Given the description of an element on the screen output the (x, y) to click on. 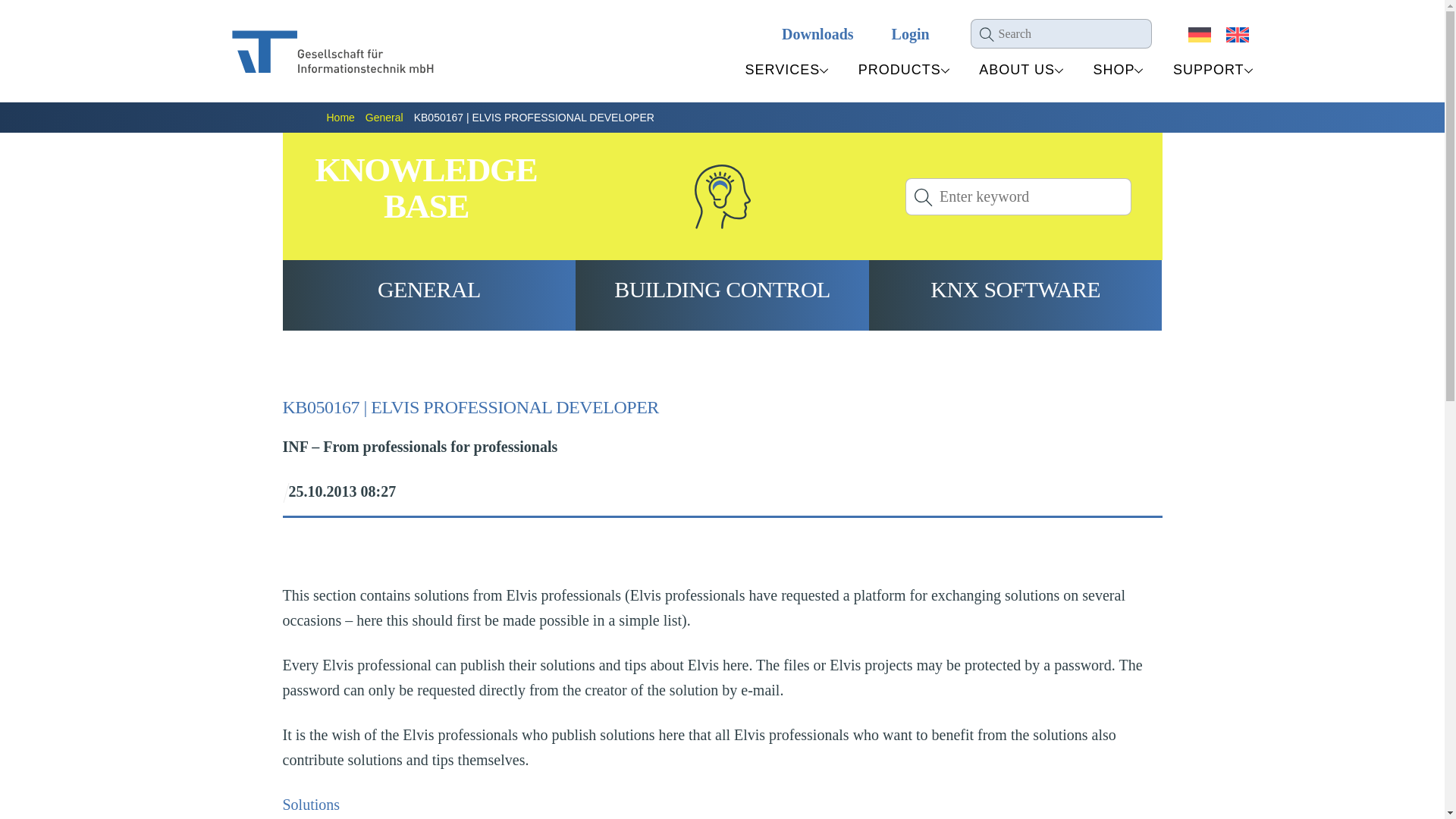
PRODUCTS (899, 70)
Downloads Login (855, 33)
SHOP (1068, 70)
SERVICES (1113, 70)
Search (783, 70)
Download PDF (1061, 33)
Enter keyword (310, 804)
ABOUT US (1018, 196)
Login (1016, 70)
